Given the description of an element on the screen output the (x, y) to click on. 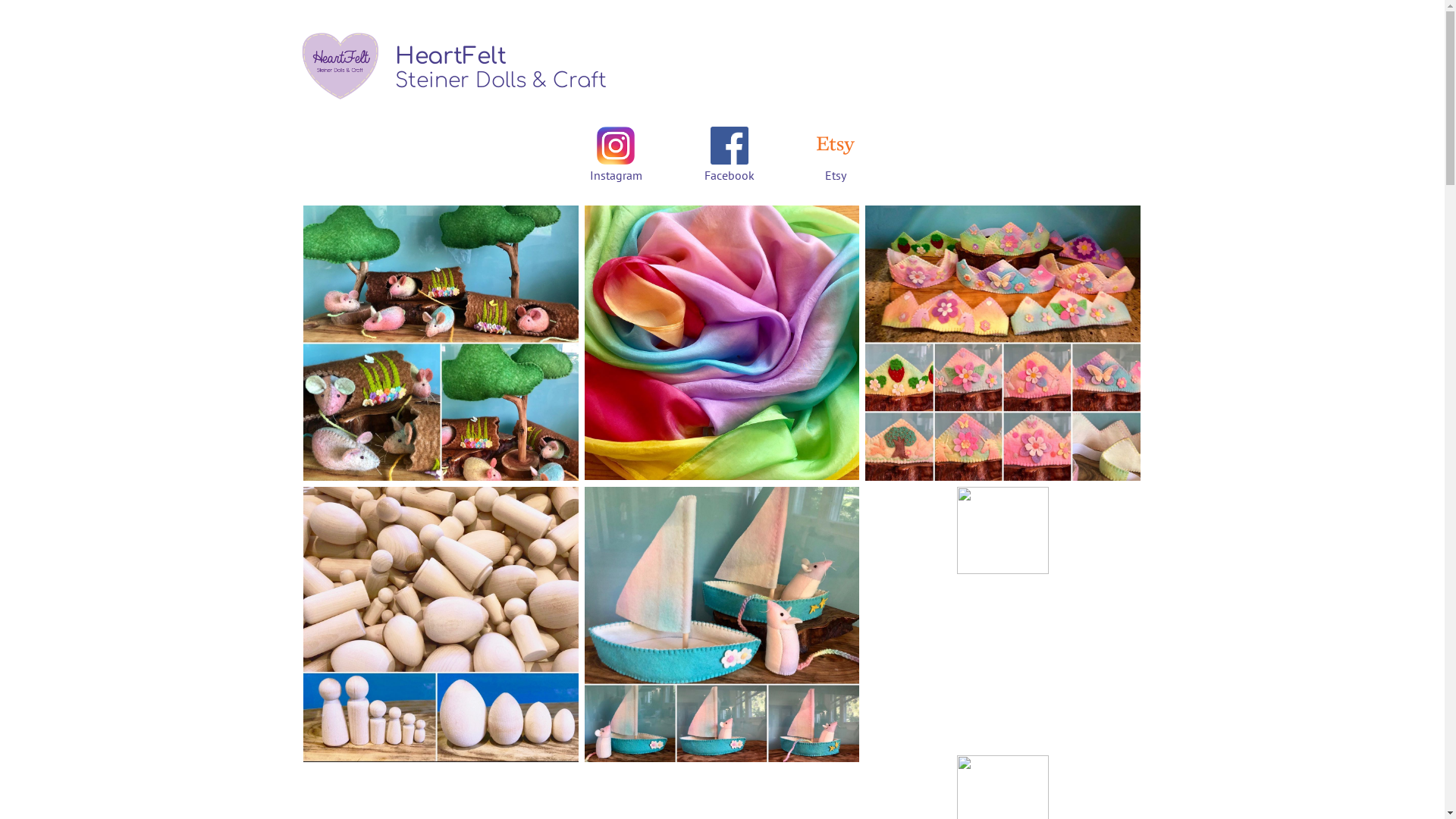
Etsy Element type: text (835, 174)
Facebook Element type: text (729, 174)
Instagram Element type: text (615, 174)
